Given the description of an element on the screen output the (x, y) to click on. 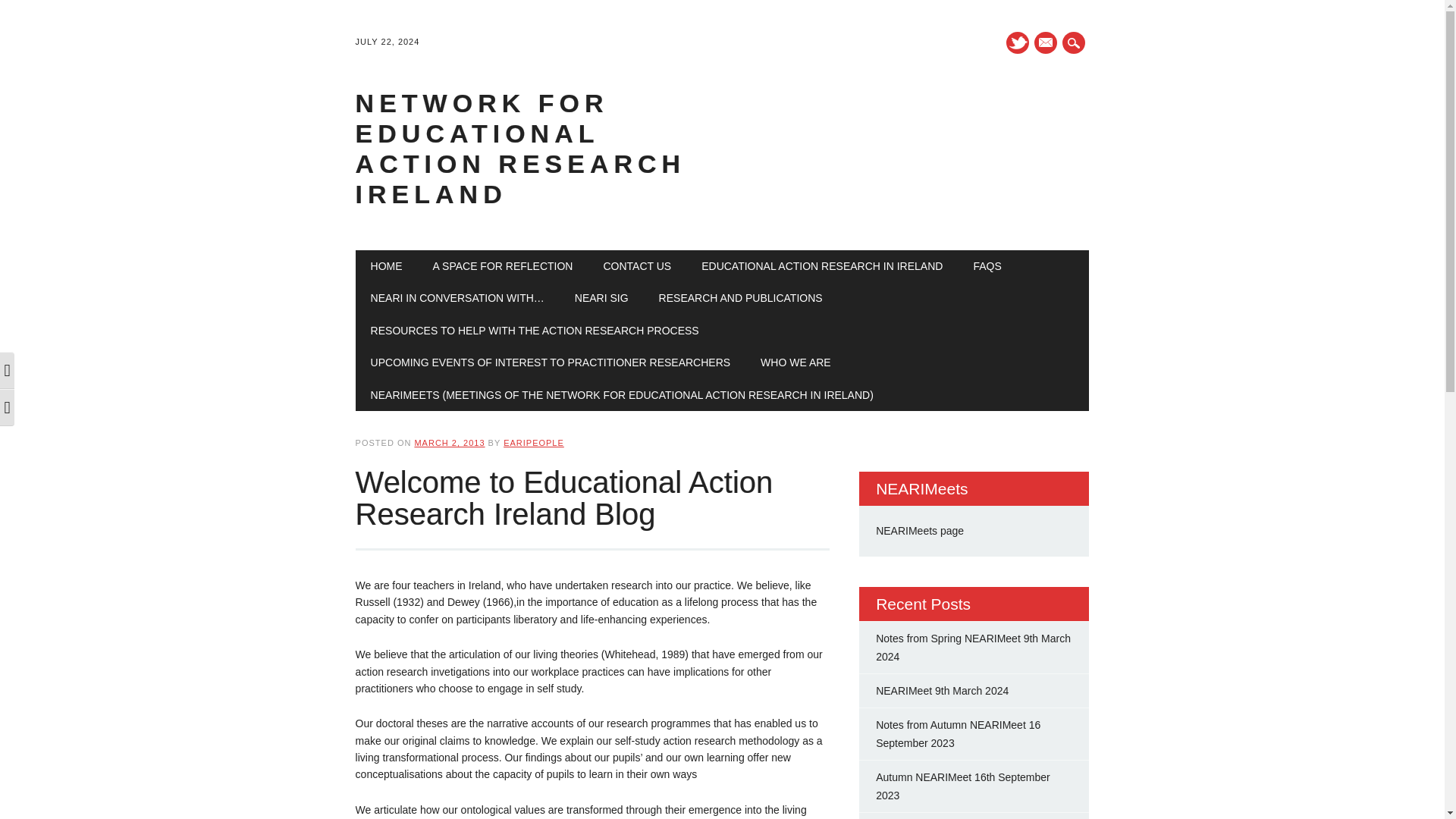
RESOURCES TO HELP WITH THE ACTION RESEARCH PROCESS (534, 330)
EDUCATIONAL ACTION RESEARCH IN IRELAND (821, 265)
11:49 am (448, 442)
CONTACT US (636, 265)
View all posts by earipeople (533, 442)
FAQS (987, 265)
Network for Educational Action Research Ireland (520, 148)
NETWORK FOR EDUCATIONAL ACTION RESEARCH IRELAND (520, 148)
E-mail (1045, 42)
NEARI SIG (601, 297)
RESEARCH AND PUBLICATIONS (740, 297)
UPCOMING EVENTS OF INTEREST TO PRACTITIONER RESEARCHERS (550, 362)
Twitter (1017, 42)
WHO WE ARE (795, 362)
A SPACE FOR REFLECTION (502, 265)
